Given the description of an element on the screen output the (x, y) to click on. 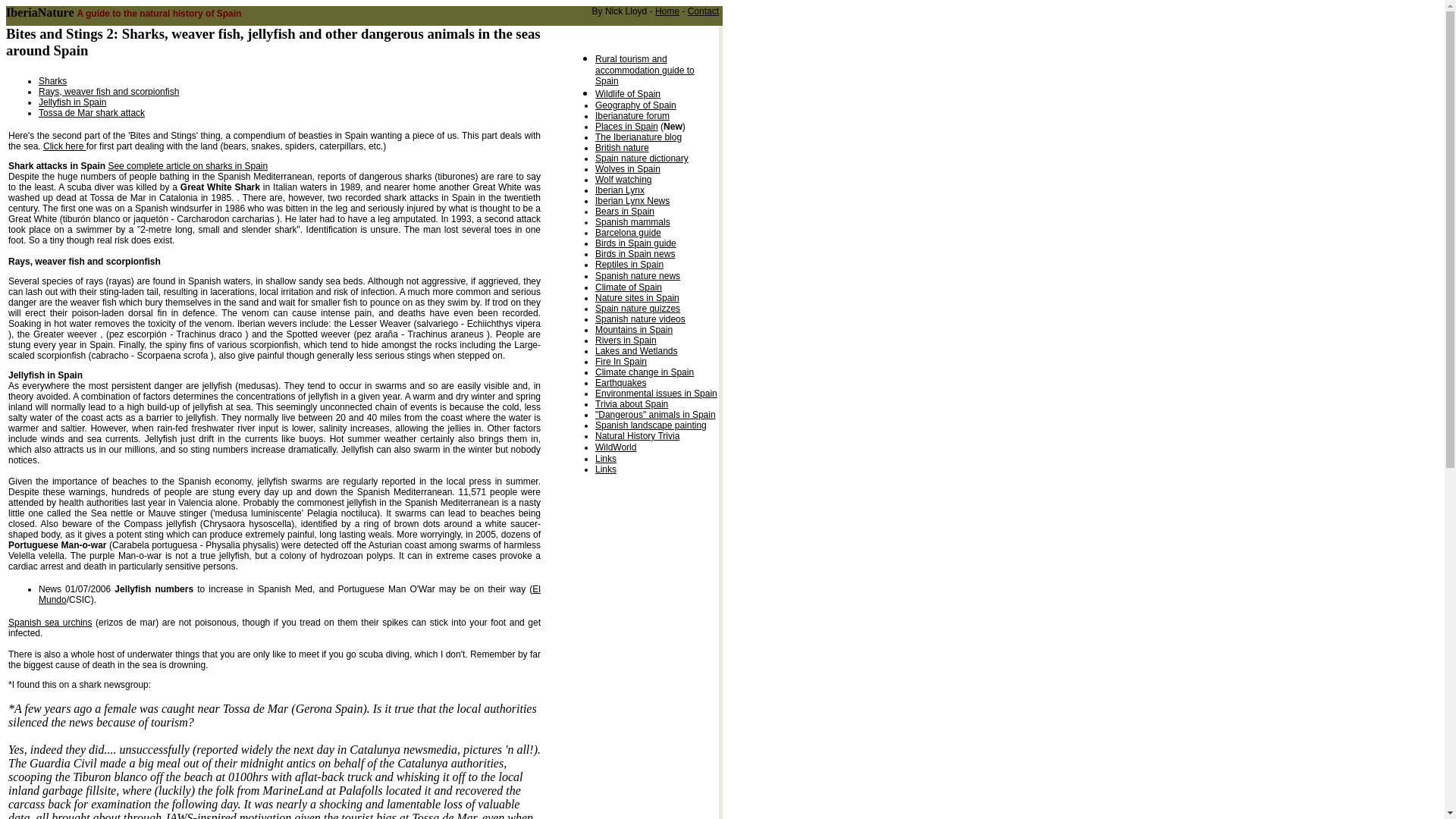
Contact (703, 10)
Iberian Lynx (620, 190)
Spanish nature videos (640, 318)
Wolf watching (622, 179)
See complete article on sharks in Spain (187, 165)
British nature (622, 147)
Wolves in Spain (628, 168)
Places in Spain (626, 126)
Jellyfish in Spain (72, 102)
Home (667, 10)
